Given the description of an element on the screen output the (x, y) to click on. 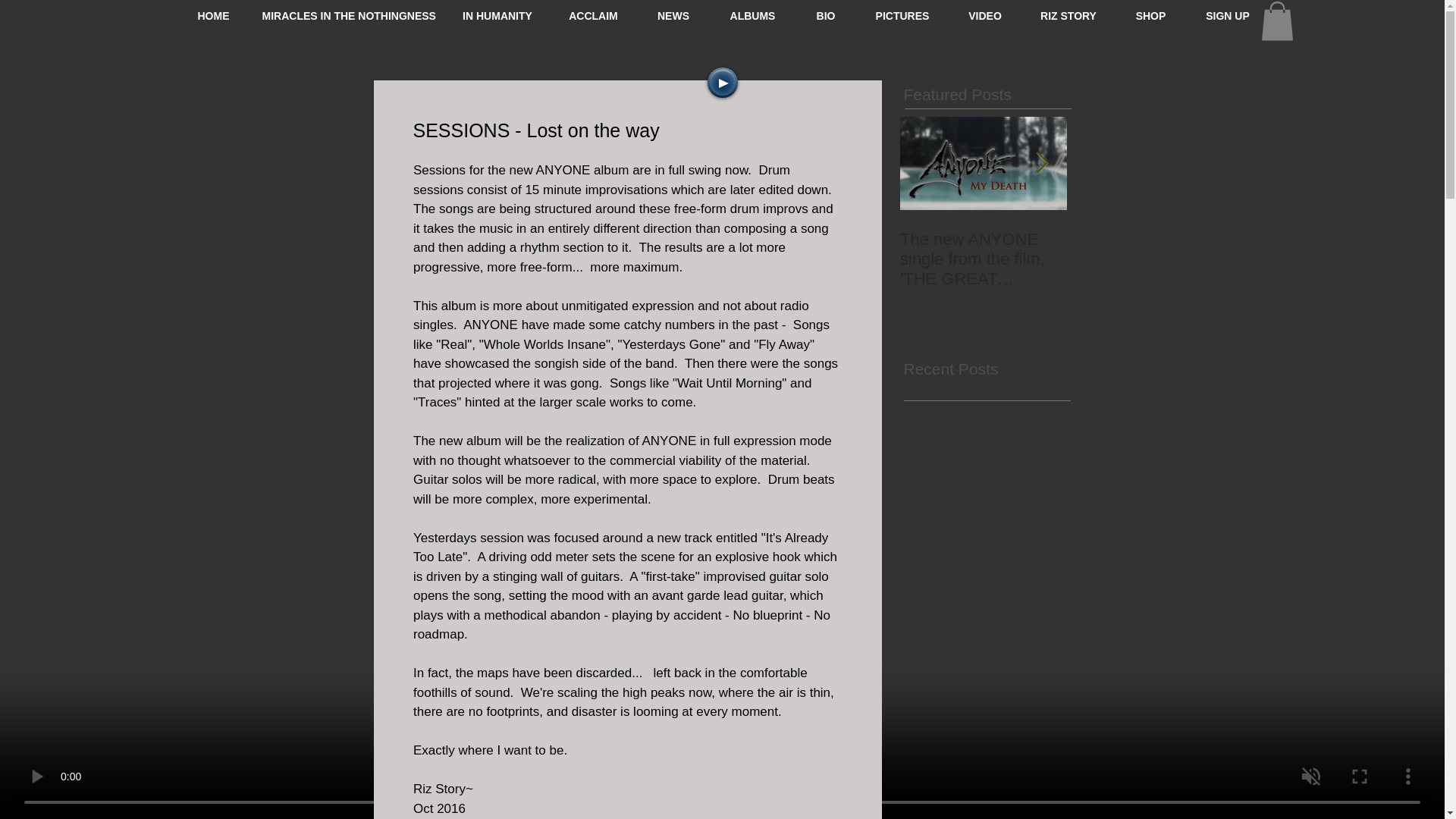
SHOP (1150, 15)
MIRACLES IN THE NOTHINGNESS (347, 15)
BIO (825, 15)
PICTURES (903, 15)
VIDEO (984, 15)
SIGN UP (1227, 15)
ACCLAIM (593, 15)
RIZ STORY (1068, 15)
NEWS (673, 15)
ALBUMS (752, 15)
